Given the description of an element on the screen output the (x, y) to click on. 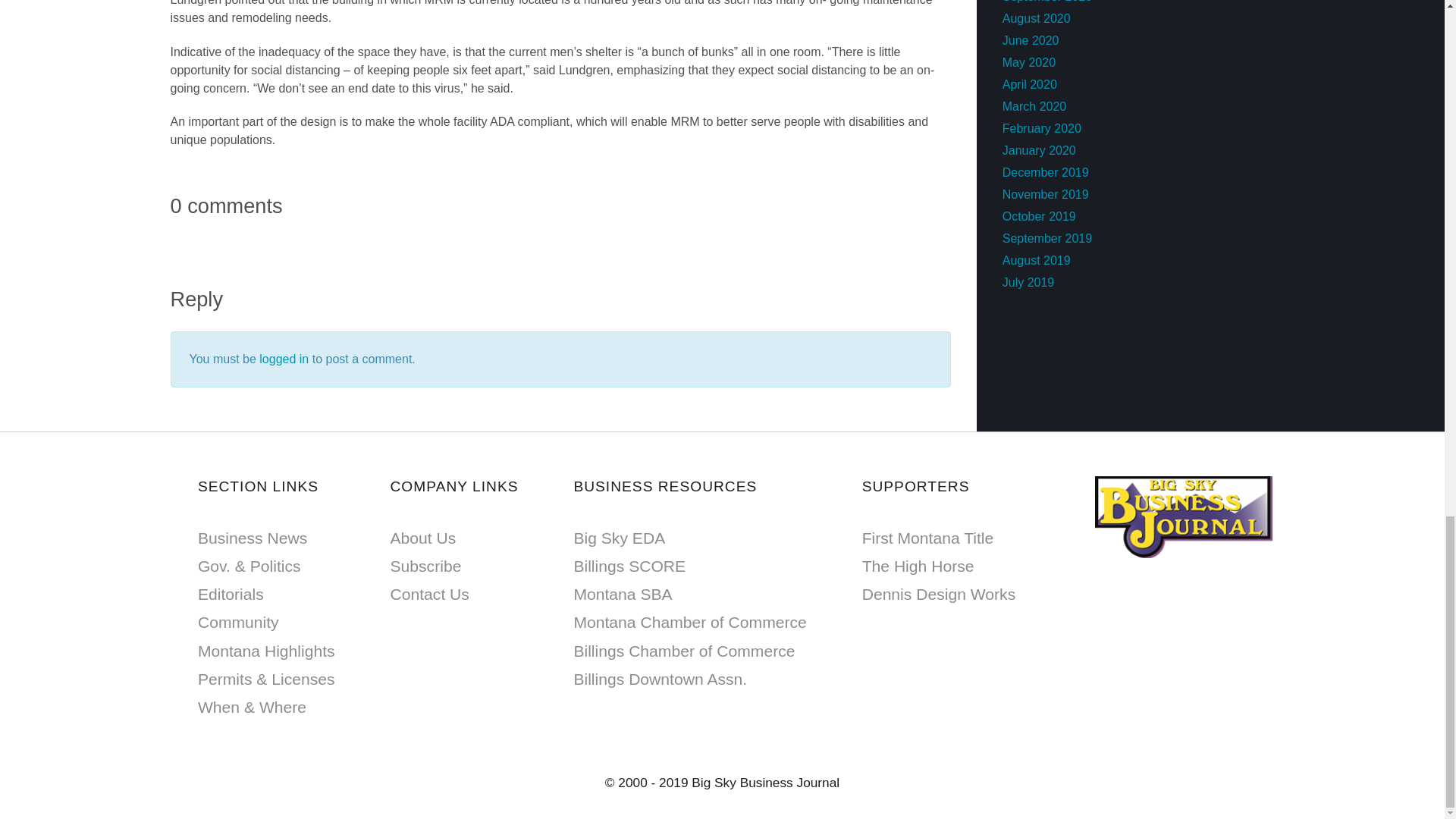
Subscribe (425, 565)
Montana Highlights (266, 651)
Contact Us (429, 593)
Editorials (230, 593)
Business News (252, 538)
About Us (422, 538)
logged in (283, 358)
Community (238, 621)
